Given the description of an element on the screen output the (x, y) to click on. 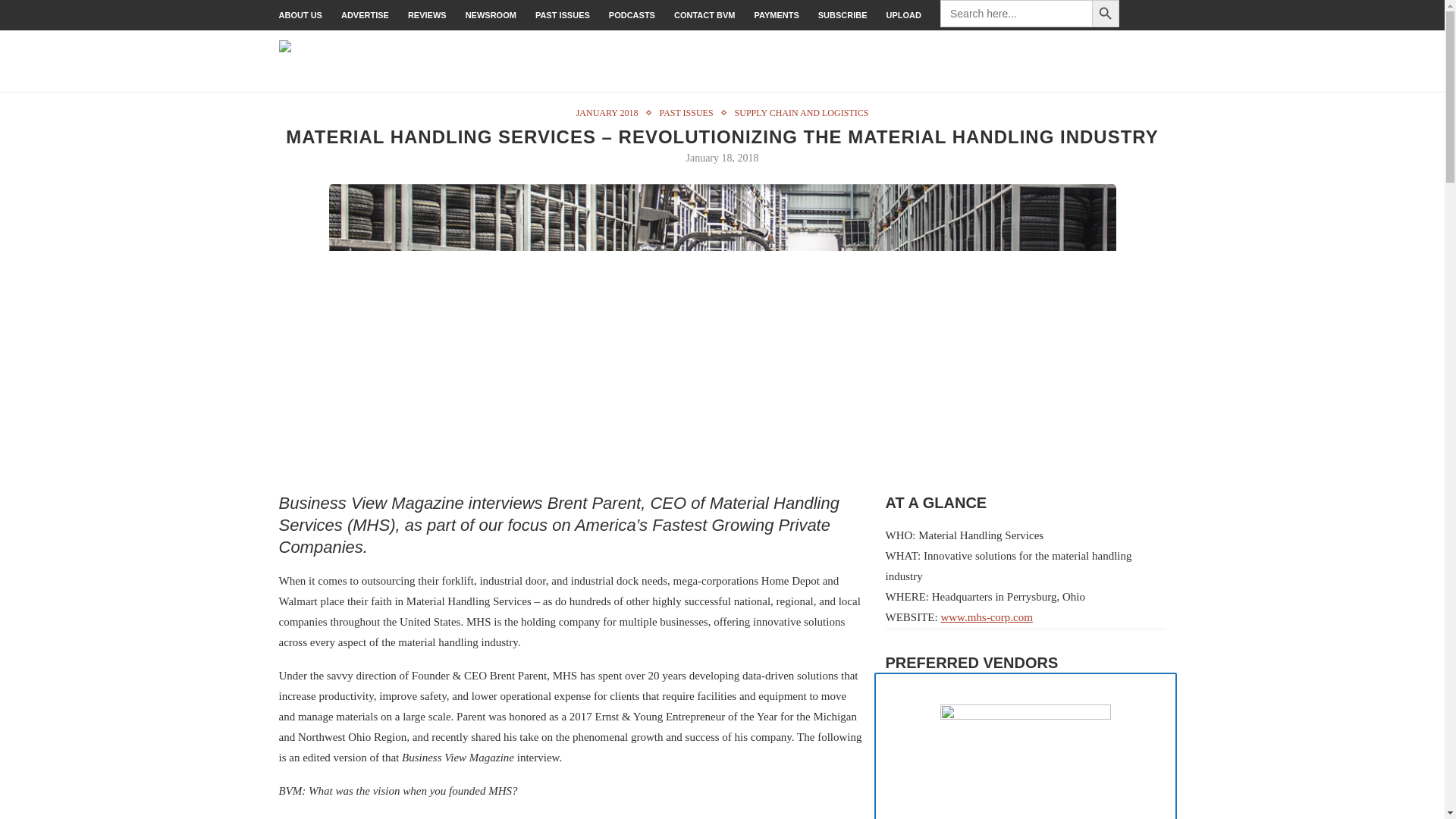
ADVERTISE (364, 14)
Caribbean (1144, 45)
Subscribe (842, 14)
PAST ISSUES (689, 112)
View all posts in Supply Chain and Logistics (802, 112)
PAYMENTS (775, 14)
Newsroom (490, 14)
NEWSROOM (490, 14)
Contact BVM (704, 14)
UPLOAD (903, 14)
View all posts in January 2018 (611, 112)
CONTACT BVM (704, 14)
PAST ISSUES (562, 14)
REVIEWS (426, 14)
View all posts in Past Issues (689, 112)
